Given the description of an element on the screen output the (x, y) to click on. 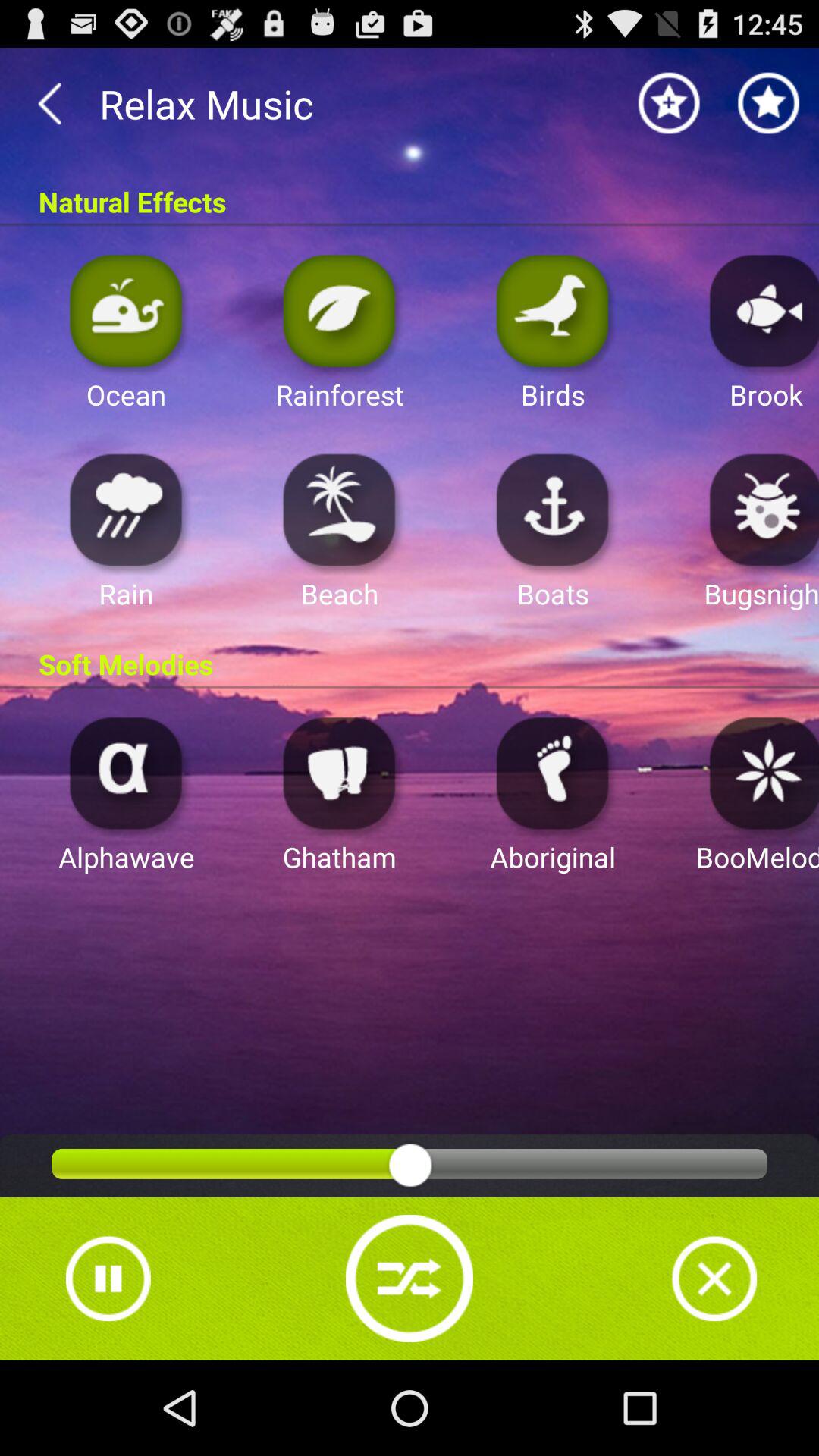
pause (107, 1278)
